Given the description of an element on the screen output the (x, y) to click on. 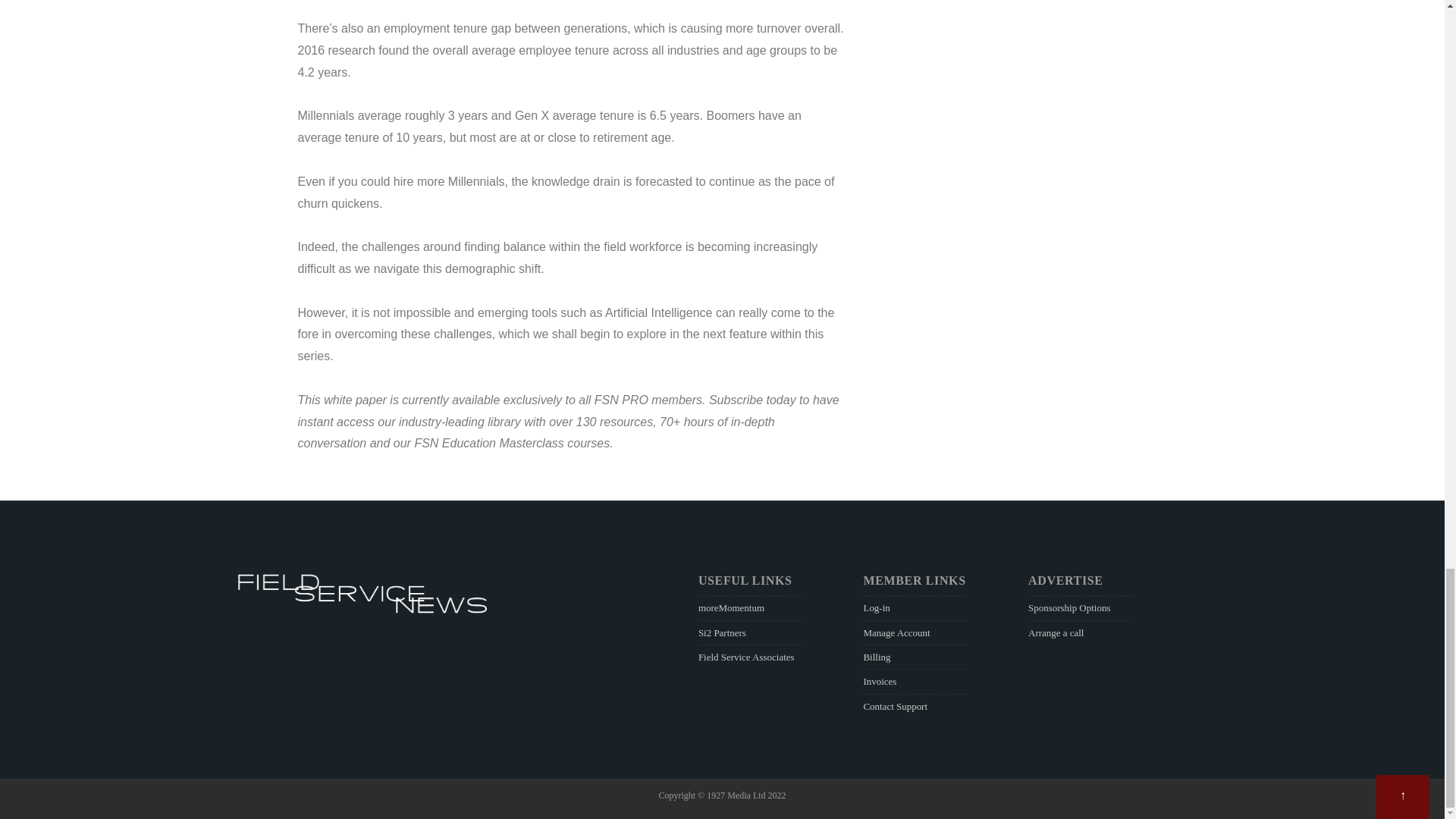
Si2 Partners (721, 632)
Billing (876, 656)
Page 3 (570, 411)
Field Service Associates (746, 656)
Page 3 (570, 422)
Manage Account (896, 632)
moreMomentum (731, 607)
Log-in (876, 607)
